Given the description of an element on the screen output the (x, y) to click on. 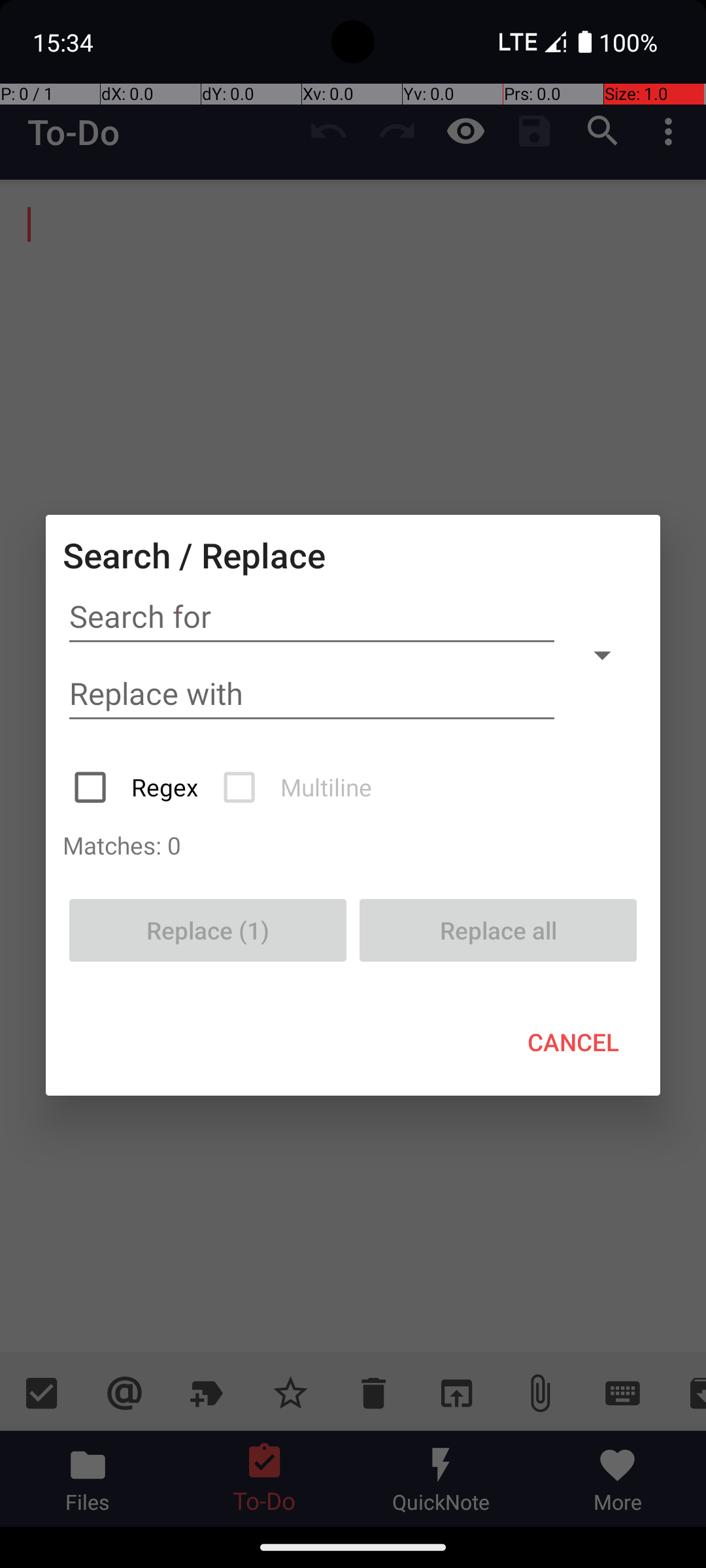
Search / Replace Element type: android.widget.TextView (193, 554)
Search for Element type: android.widget.EditText (311, 616)
Replace with Element type: android.widget.EditText (311, 693)
Regex Element type: android.widget.CheckBox (136, 786)
Multiline Element type: android.widget.CheckBox (298, 786)
Matches: 0 Element type: android.widget.TextView (352, 844)
Replace (1) Element type: android.widget.Button (207, 930)
Replace all Element type: android.widget.Button (498, 930)
